Given the description of an element on the screen output the (x, y) to click on. 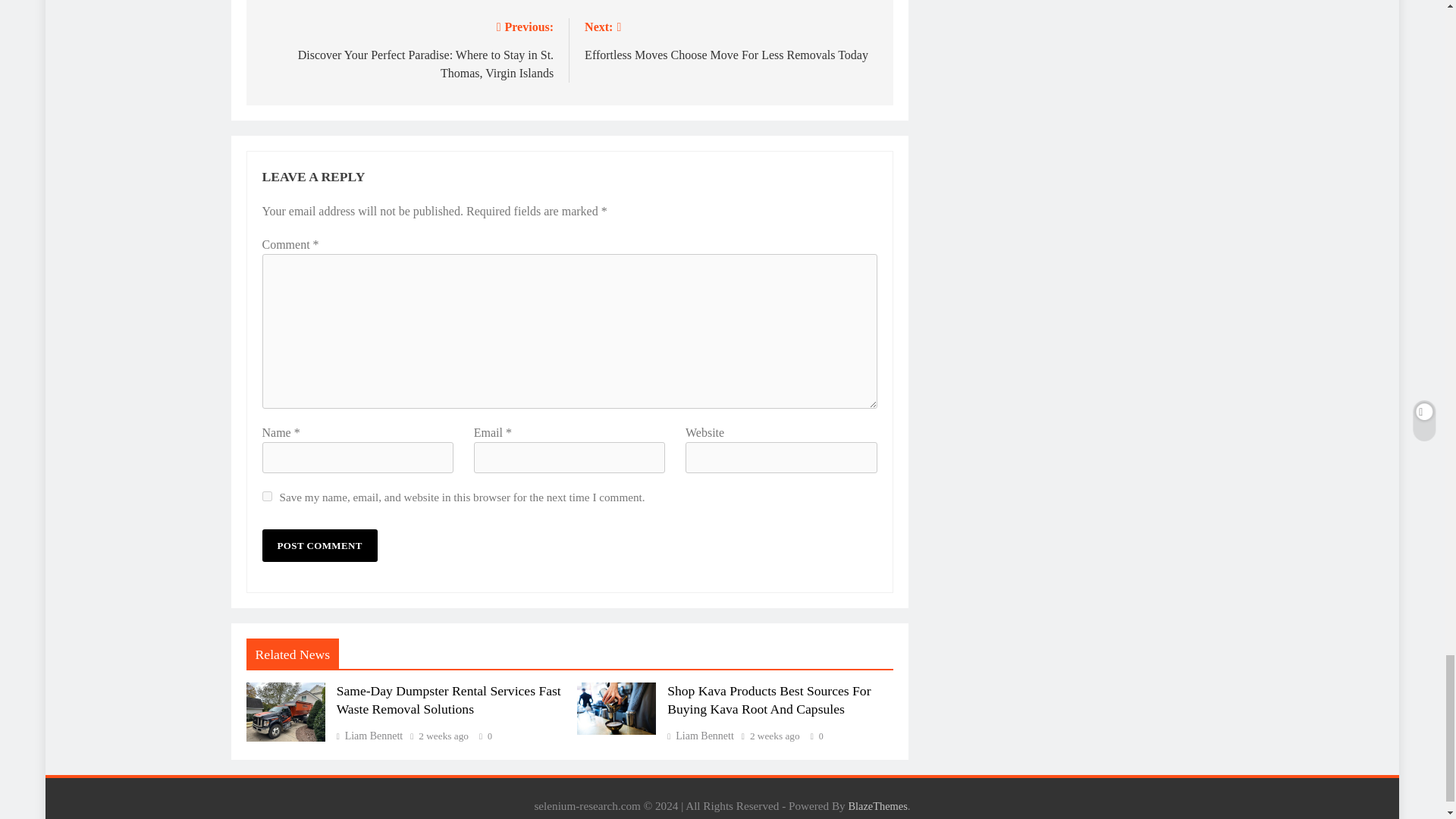
2 weeks ago (443, 736)
Liam Bennett (369, 736)
yes (267, 496)
Post Comment (319, 545)
2 weeks ago (774, 736)
Post Comment (319, 545)
Liam Bennett (731, 39)
